Given the description of an element on the screen output the (x, y) to click on. 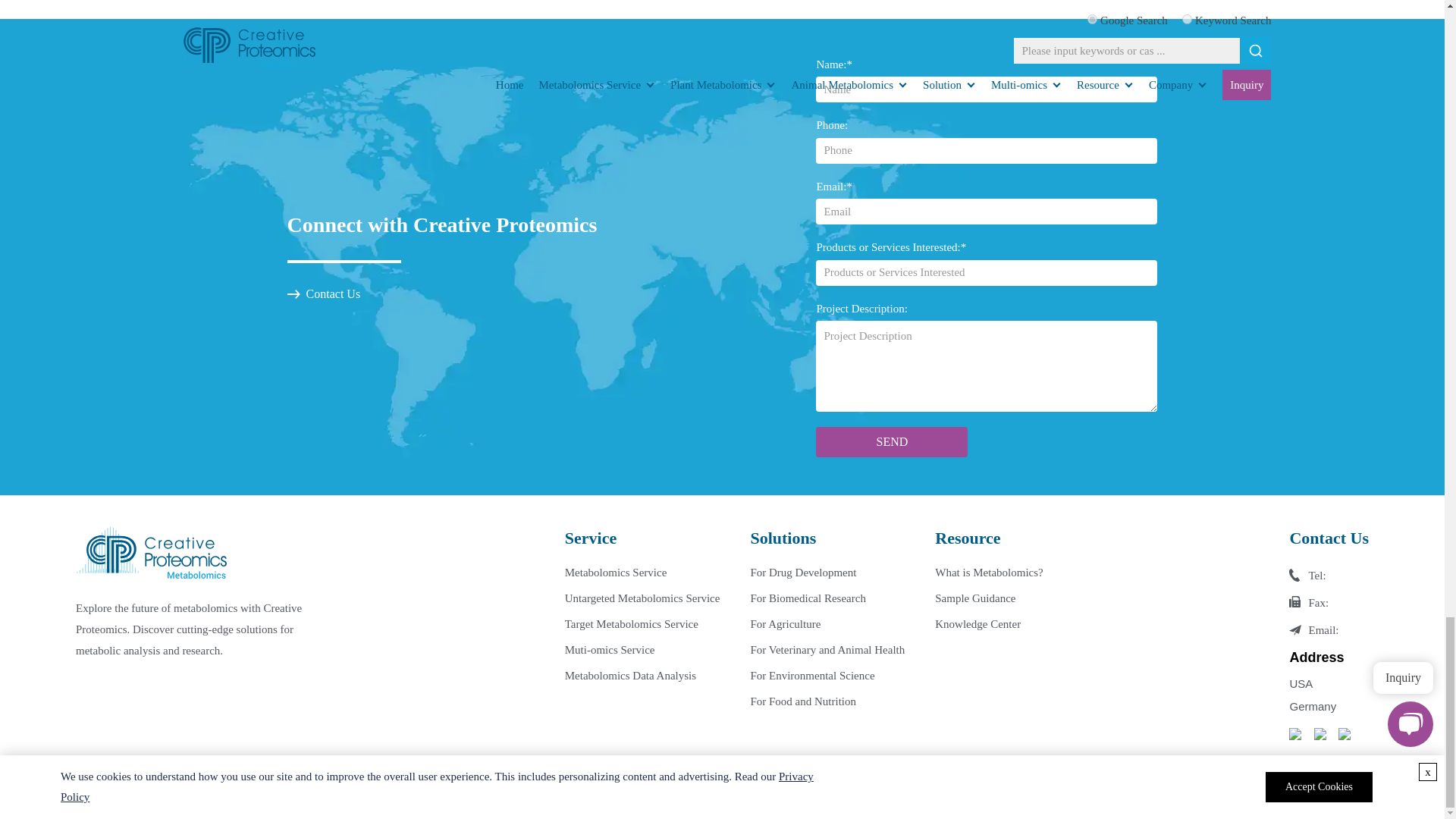
SEND (891, 441)
